Given the description of an element on the screen output the (x, y) to click on. 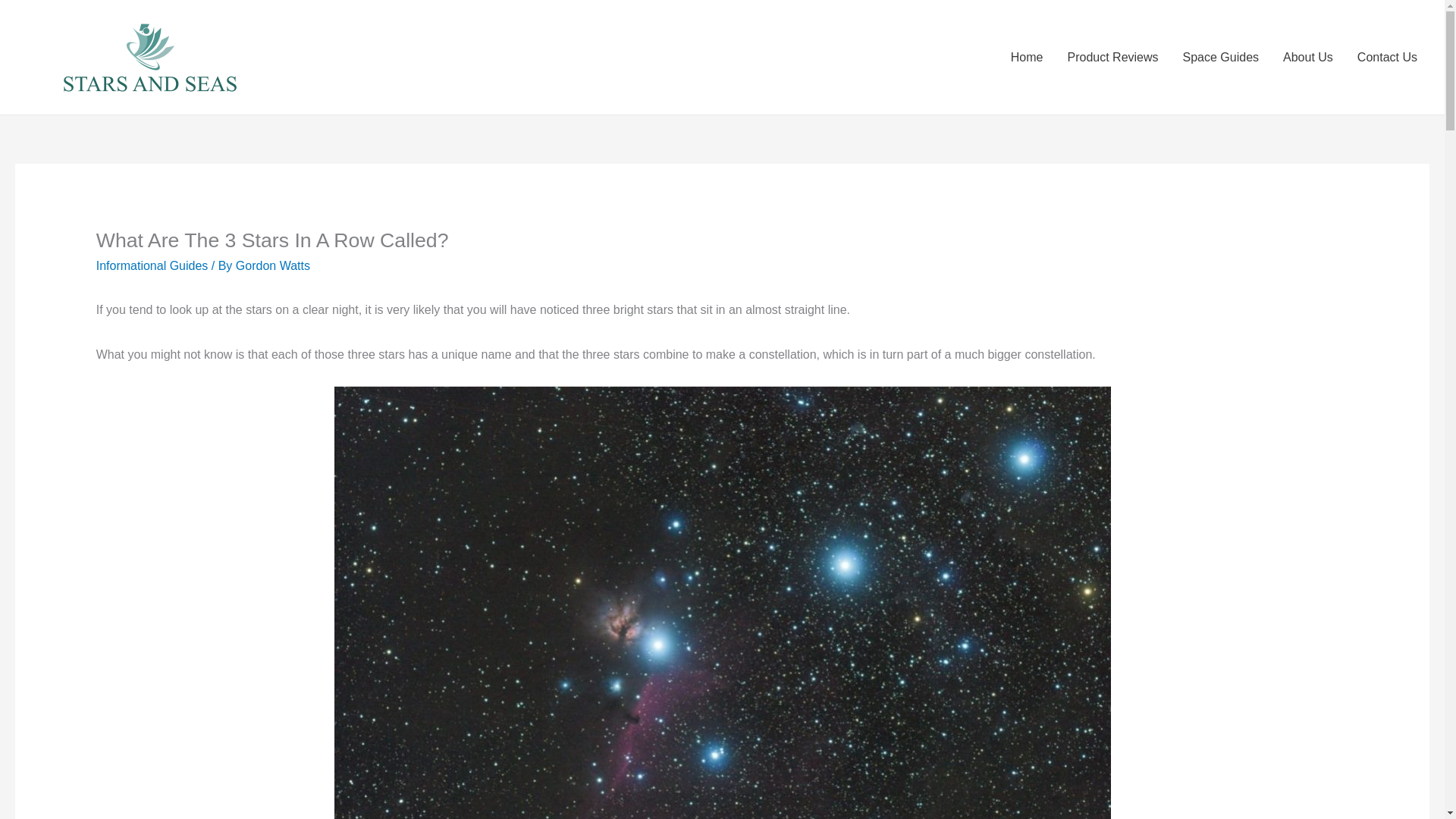
Product Reviews (1112, 57)
Gordon Watts (272, 265)
View all posts by Gordon Watts (272, 265)
Informational Guides (152, 265)
